Given the description of an element on the screen output the (x, y) to click on. 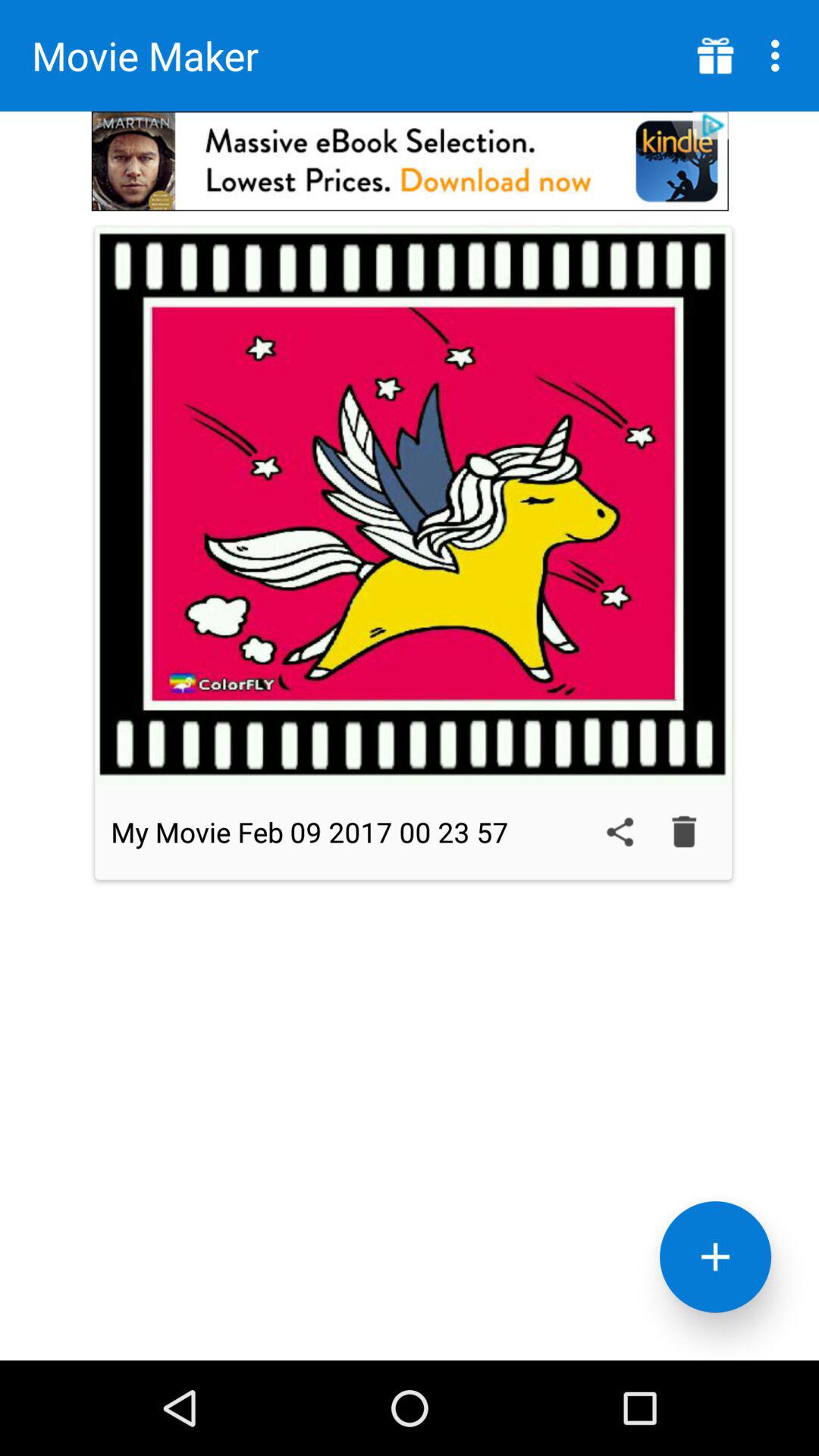
trash image (684, 831)
